Given the description of an element on the screen output the (x, y) to click on. 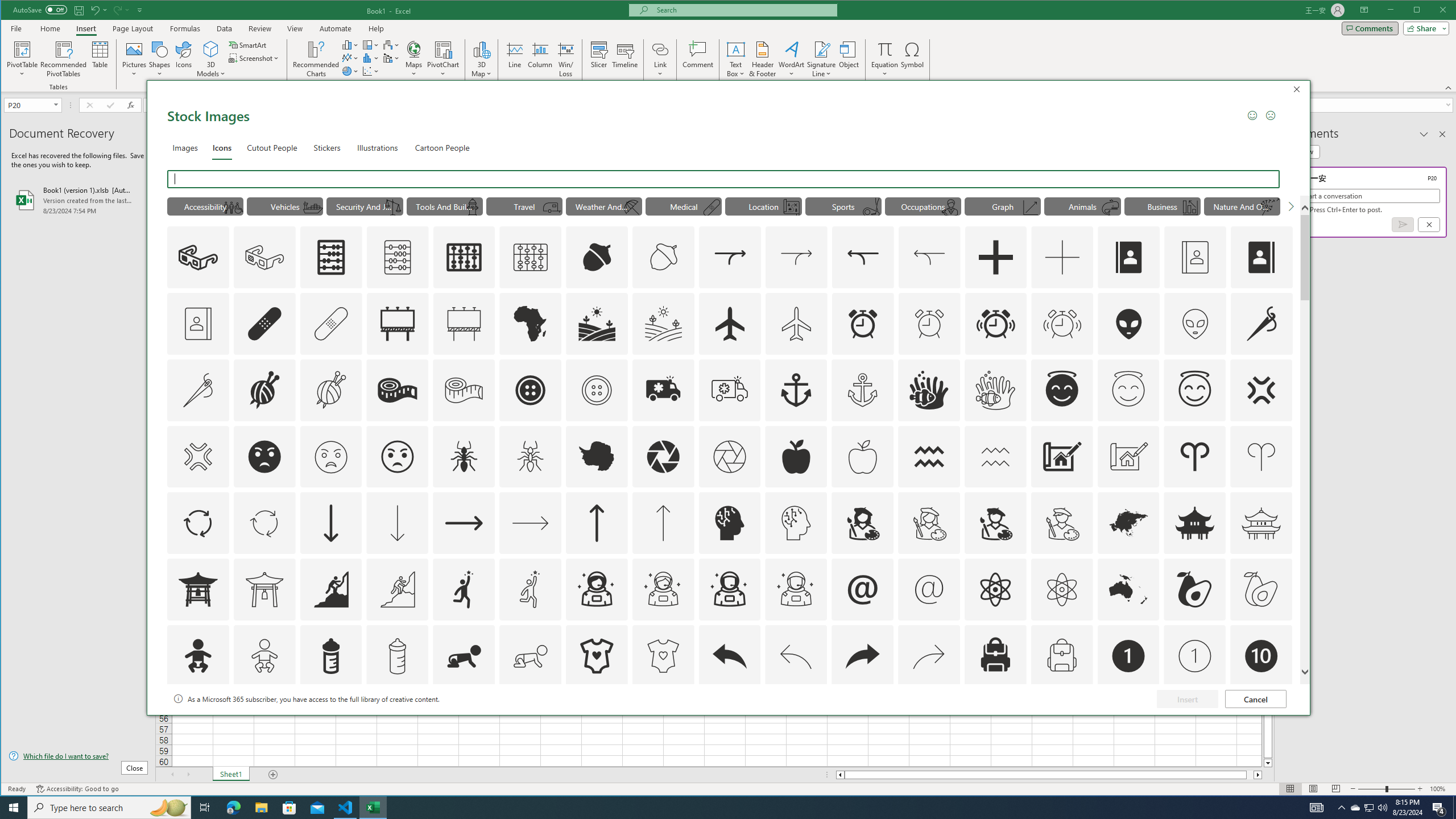
Comment (697, 59)
AutomationID: Icons_UniversalAccess_M (232, 207)
AutomationID: Icons_AlterationsTailoring1 (264, 389)
AutomationID: Icons_Aquarius_M (995, 456)
"Animals" Icons. (1355, 807)
Insert Column or Bar Chart (1082, 206)
Cutout People (350, 44)
AutomationID: Icons_AddressBook_RTL_M (272, 147)
